Given the description of an element on the screen output the (x, y) to click on. 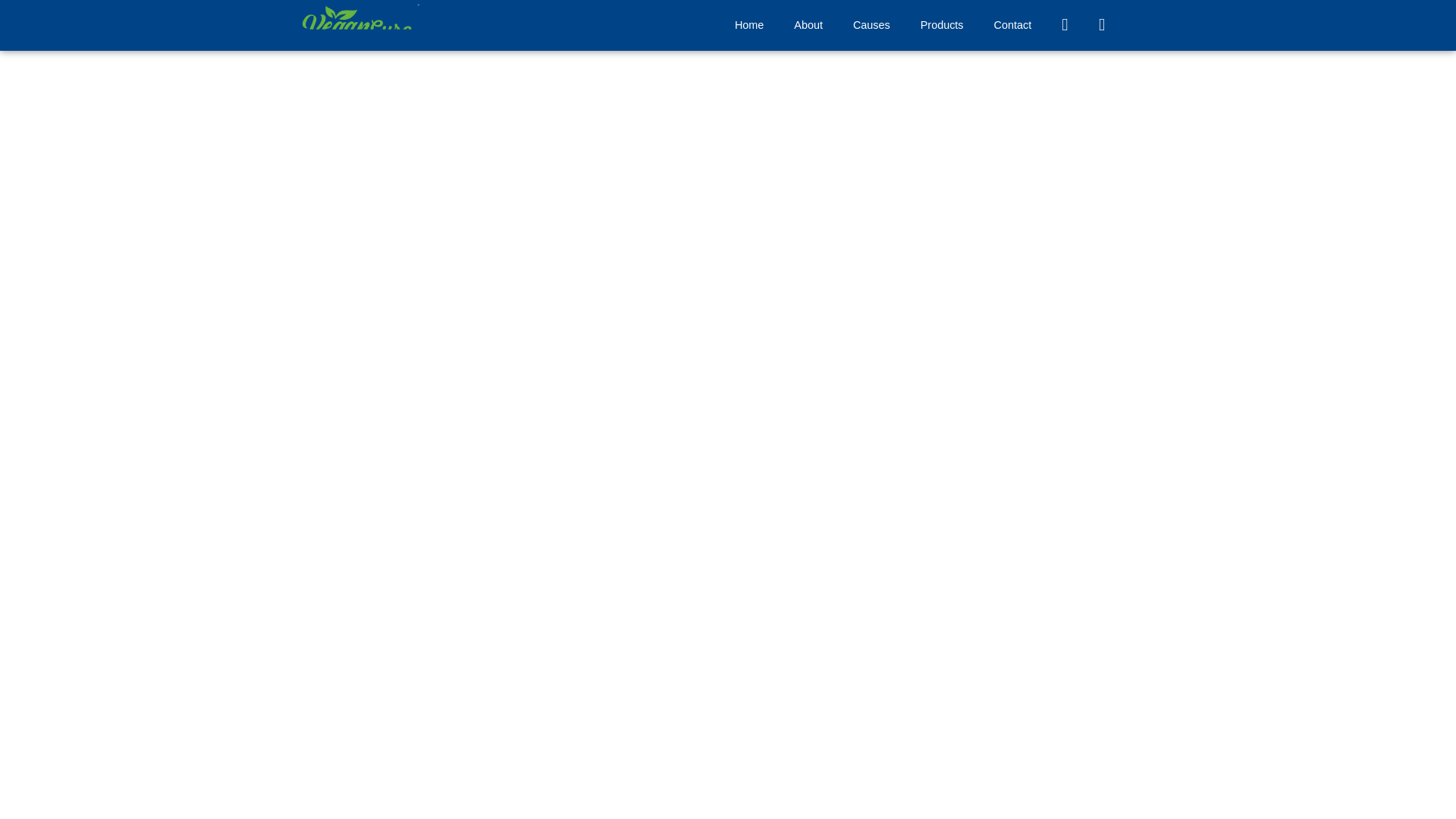
About (808, 24)
Causes (871, 24)
Home (748, 24)
Contact (1012, 24)
Products (941, 24)
